Given the description of an element on the screen output the (x, y) to click on. 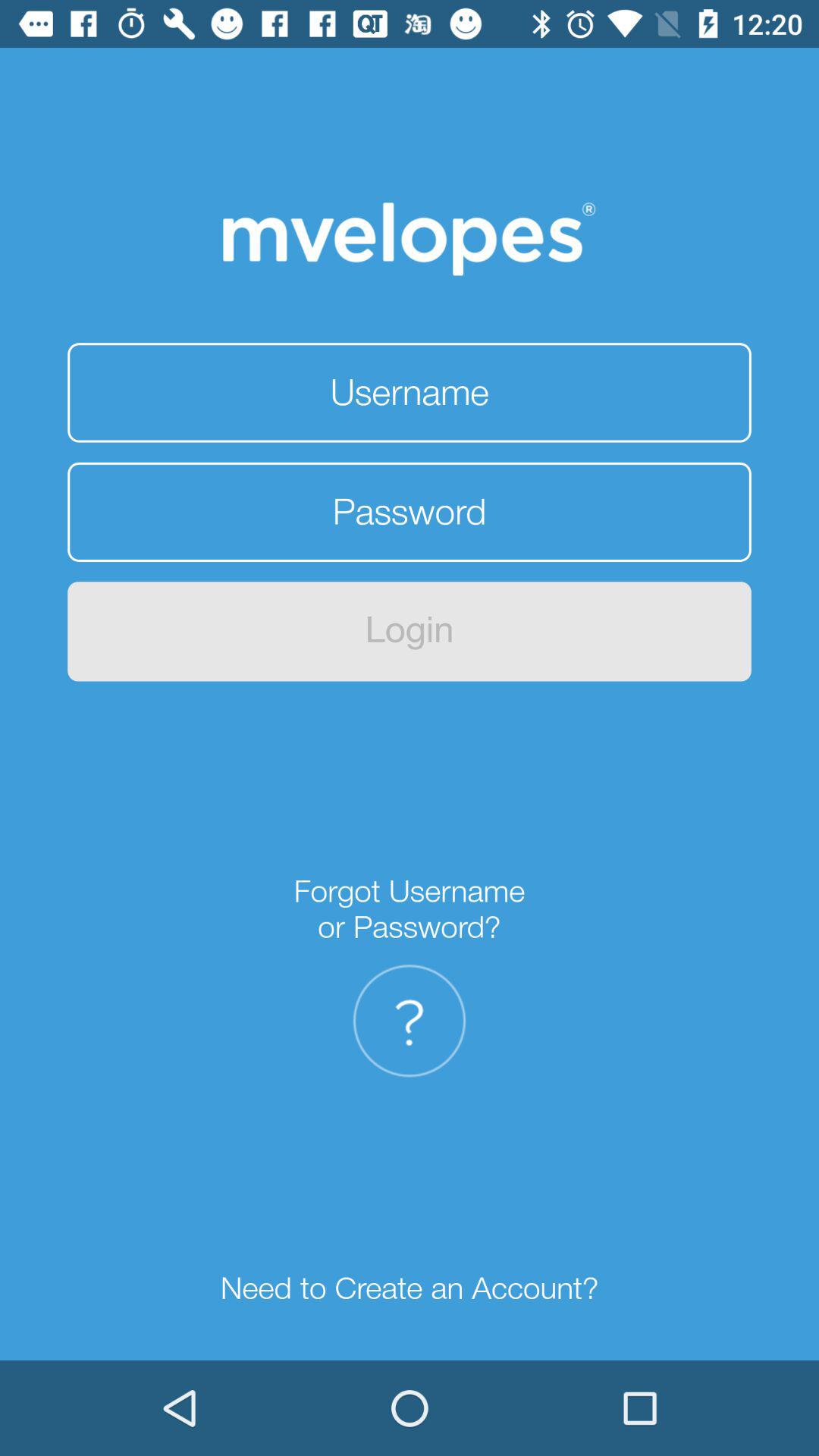
turn on icon above the need to create (409, 1020)
